Given the description of an element on the screen output the (x, y) to click on. 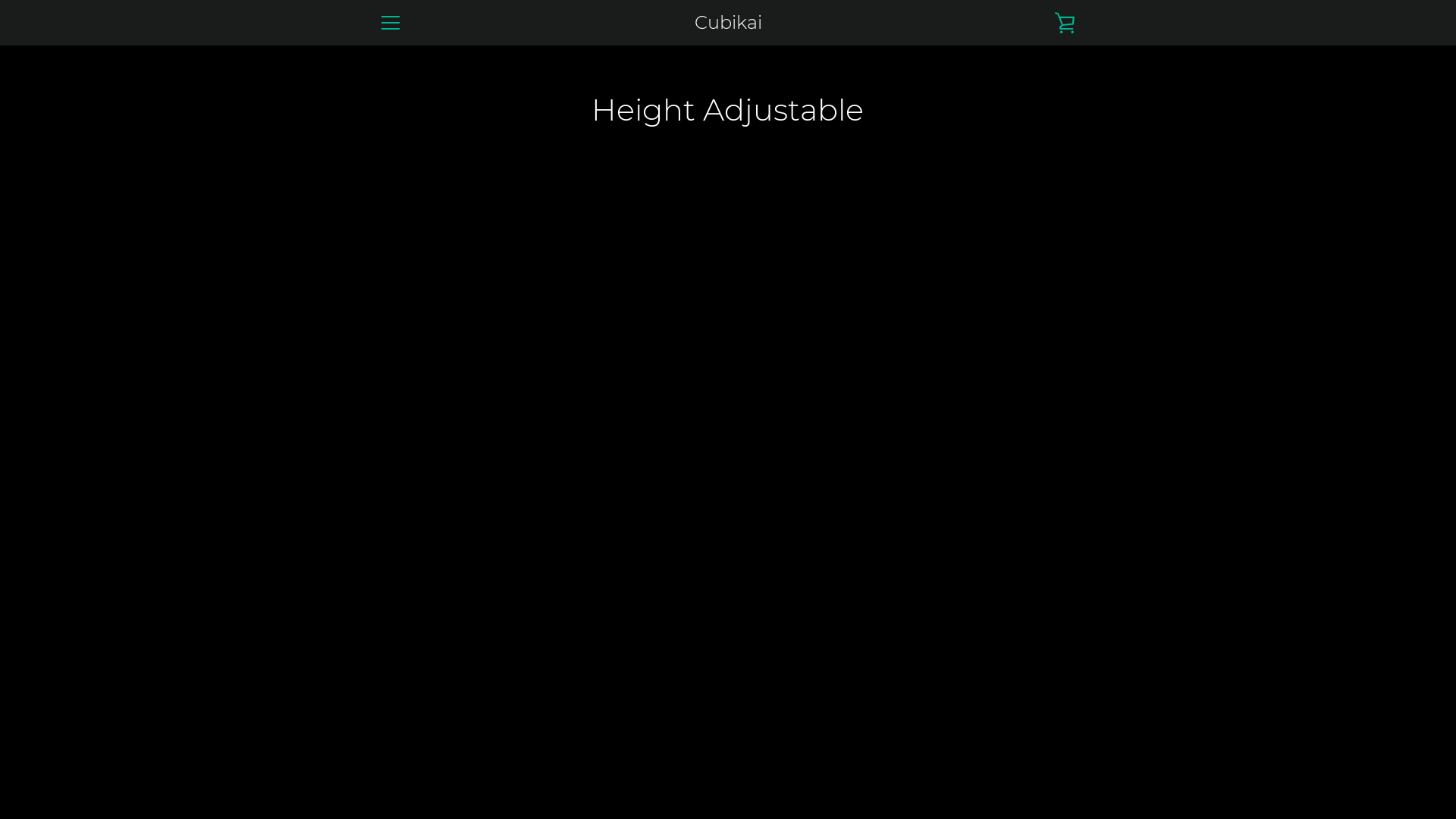
Cubikai Element type: text (728, 23)
VIEW CART Element type: text (1065, 22)
MENU Element type: text (390, 22)
Skip to content Element type: text (0, 0)
